Given the description of an element on the screen output the (x, y) to click on. 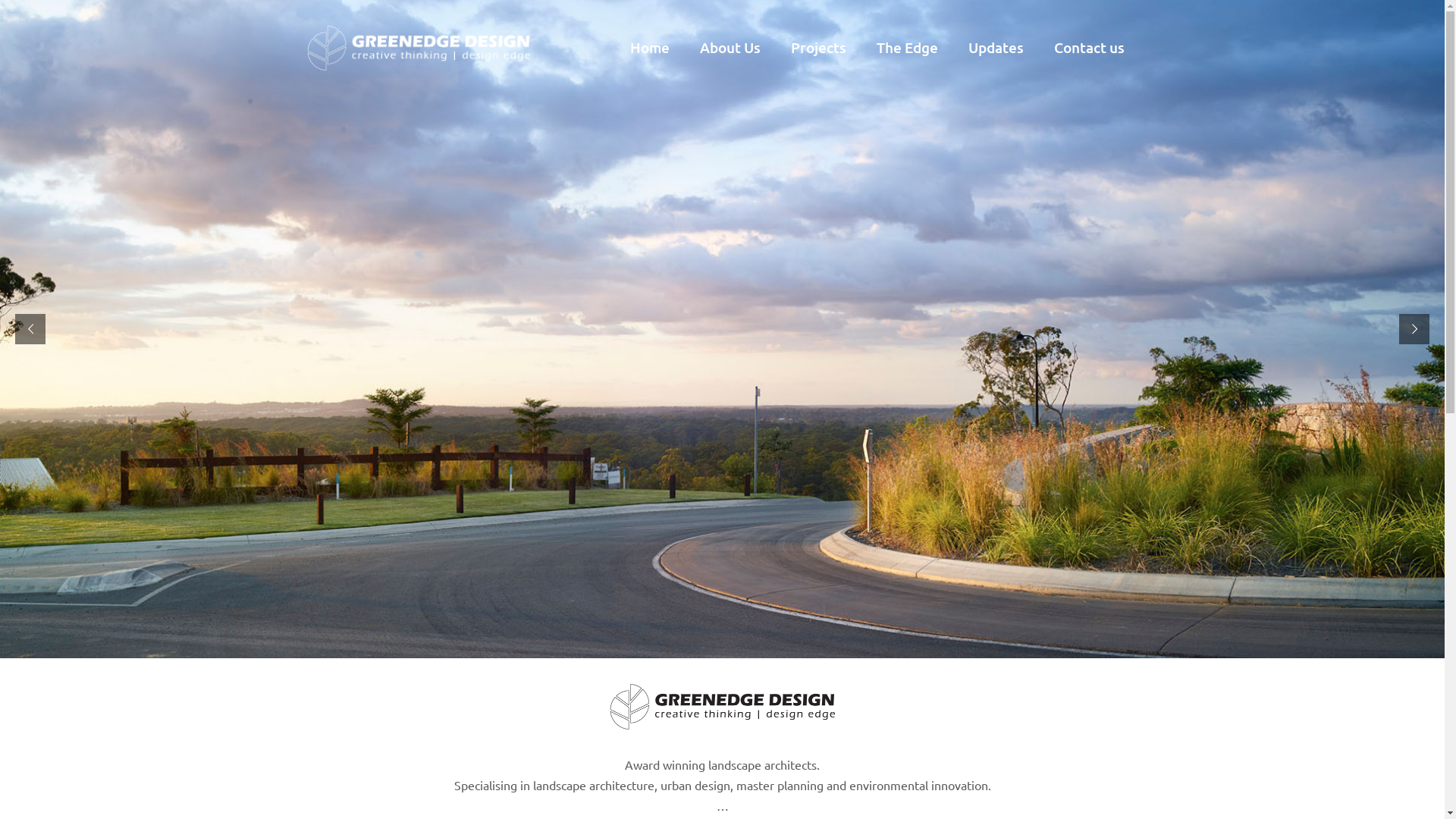
Projects Element type: text (817, 47)
About Us Element type: text (729, 47)
Updates Element type: text (995, 47)
The Edge Element type: text (907, 47)
Home Element type: text (649, 47)
Contact us Element type: text (1088, 47)
